Given the description of an element on the screen output the (x, y) to click on. 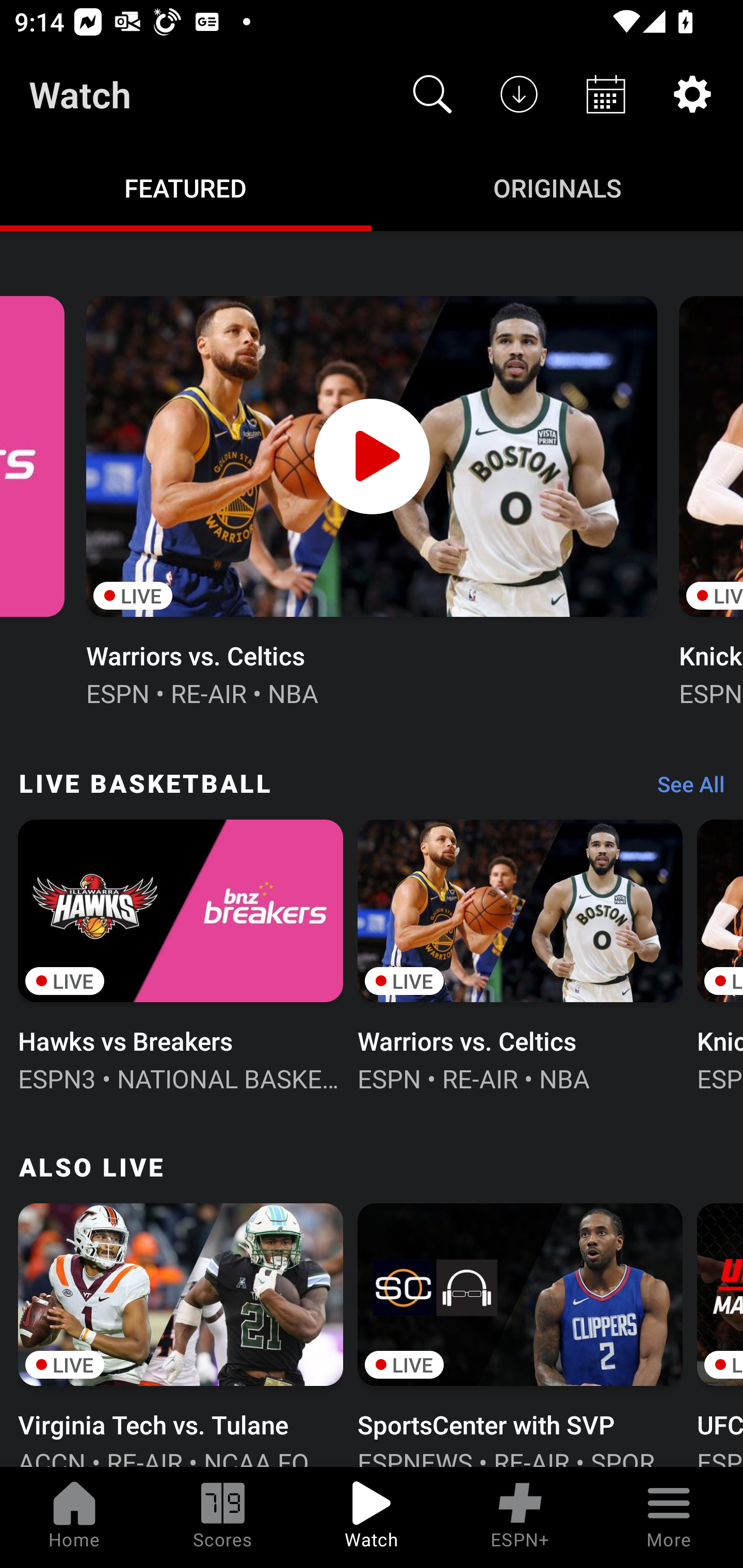
Search (432, 93)
Downloads (518, 93)
Schedule (605, 93)
Settings (692, 93)
Originals ORIGINALS (557, 187)
 LIVE Warriors vs. Celtics ESPN • RE-AIR • NBA (371, 499)
See All (683, 788)
LIVE Warriors vs. Celtics ESPN • RE-AIR • NBA (519, 954)
Home (74, 1517)
Scores (222, 1517)
ESPN+ (519, 1517)
More (668, 1517)
